Given the description of an element on the screen output the (x, y) to click on. 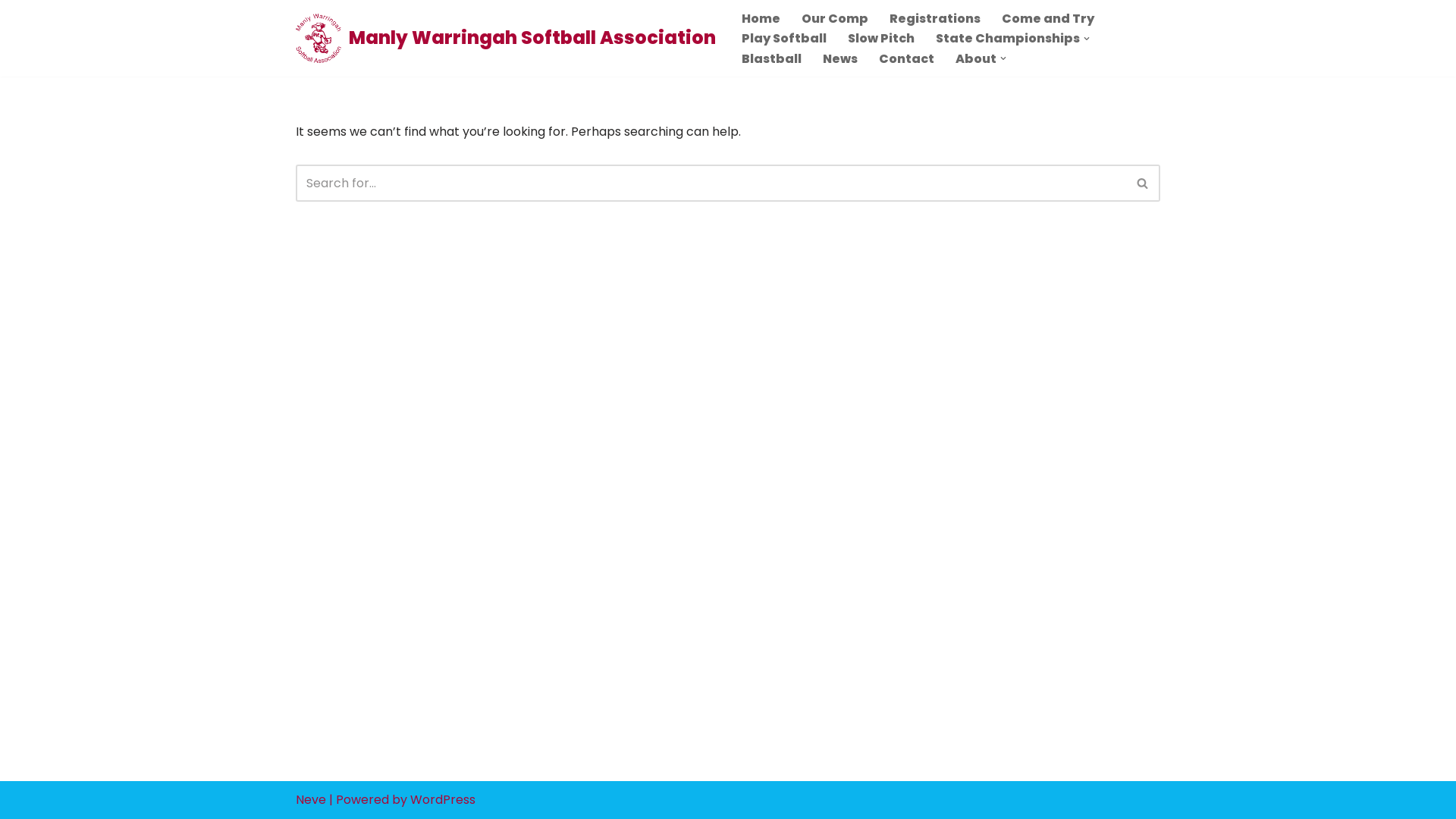
News Element type: text (839, 58)
Play Softball Element type: text (783, 38)
Registrations Element type: text (934, 18)
Skip to content Element type: text (11, 31)
Home Element type: text (760, 18)
Come and Try Element type: text (1047, 18)
About Element type: text (975, 58)
WordPress Element type: text (442, 799)
Our Comp Element type: text (834, 18)
Manly Warringah Softball Association Element type: text (505, 37)
Blastball Element type: text (771, 58)
Contact Element type: text (906, 58)
State Championships Element type: text (1007, 38)
Neve Element type: text (310, 799)
Slow Pitch Element type: text (880, 38)
